Given the description of an element on the screen output the (x, y) to click on. 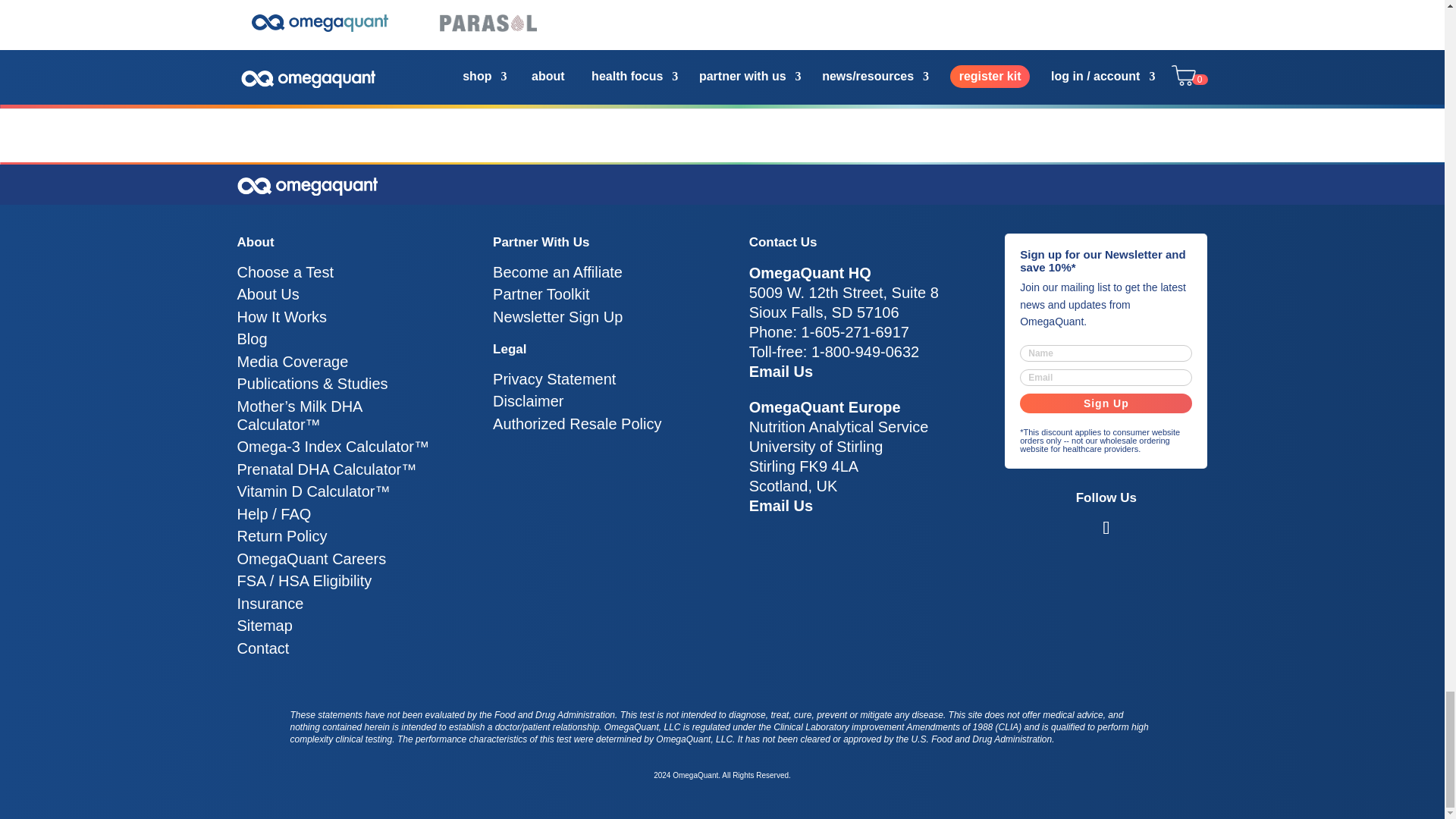
Can You Take Fish Oil on an Empty Stomach? (302, 25)
What Are Omega-3 Ethyl Esters? (566, 5)
What is Omega-3 ALA Good For? (698, 15)
